Given the description of an element on the screen output the (x, y) to click on. 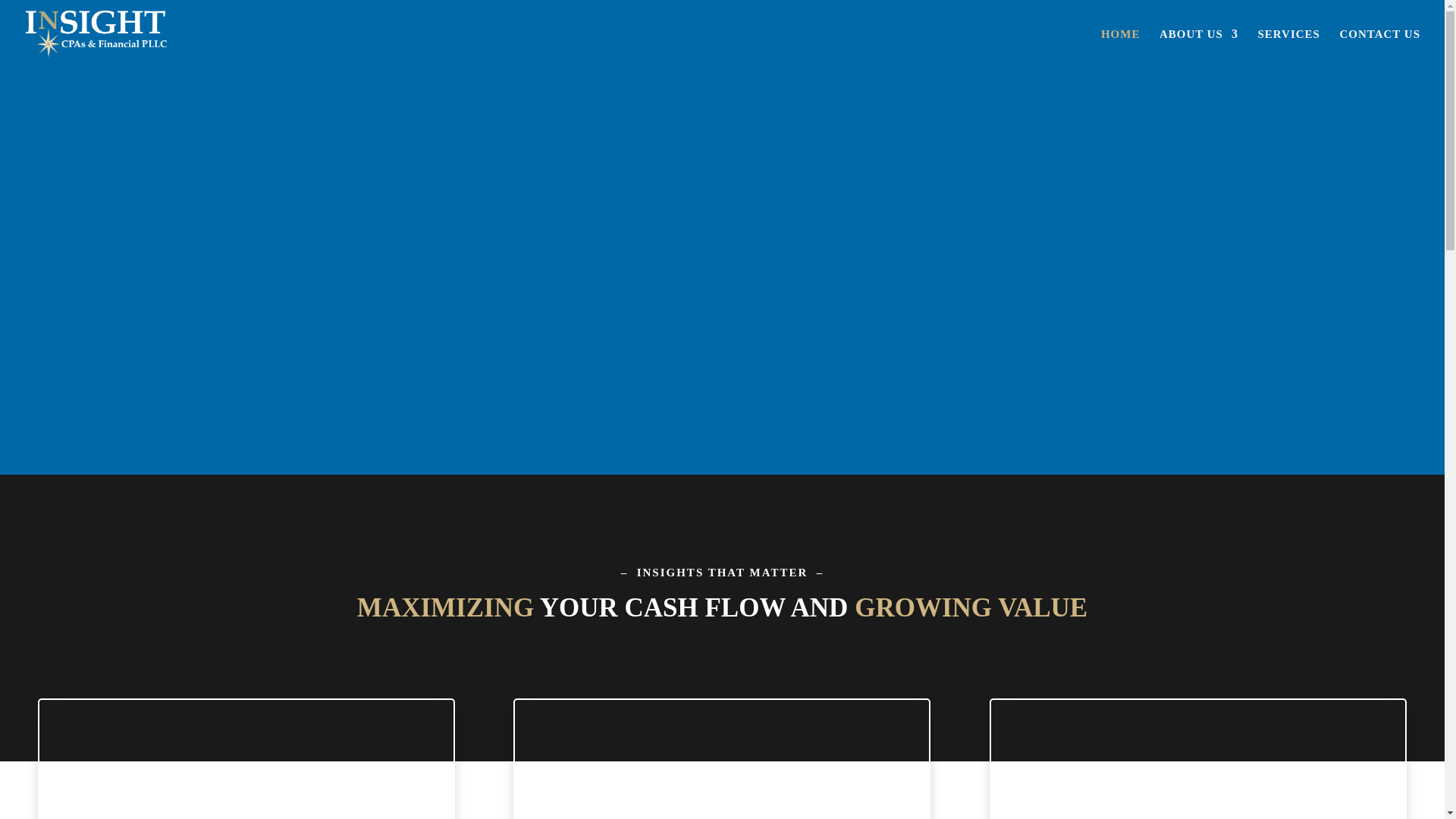
SERVICES (1288, 47)
CONTACT US (1380, 47)
HOME (1120, 47)
ABOUT US (1198, 47)
